Given the description of an element on the screen output the (x, y) to click on. 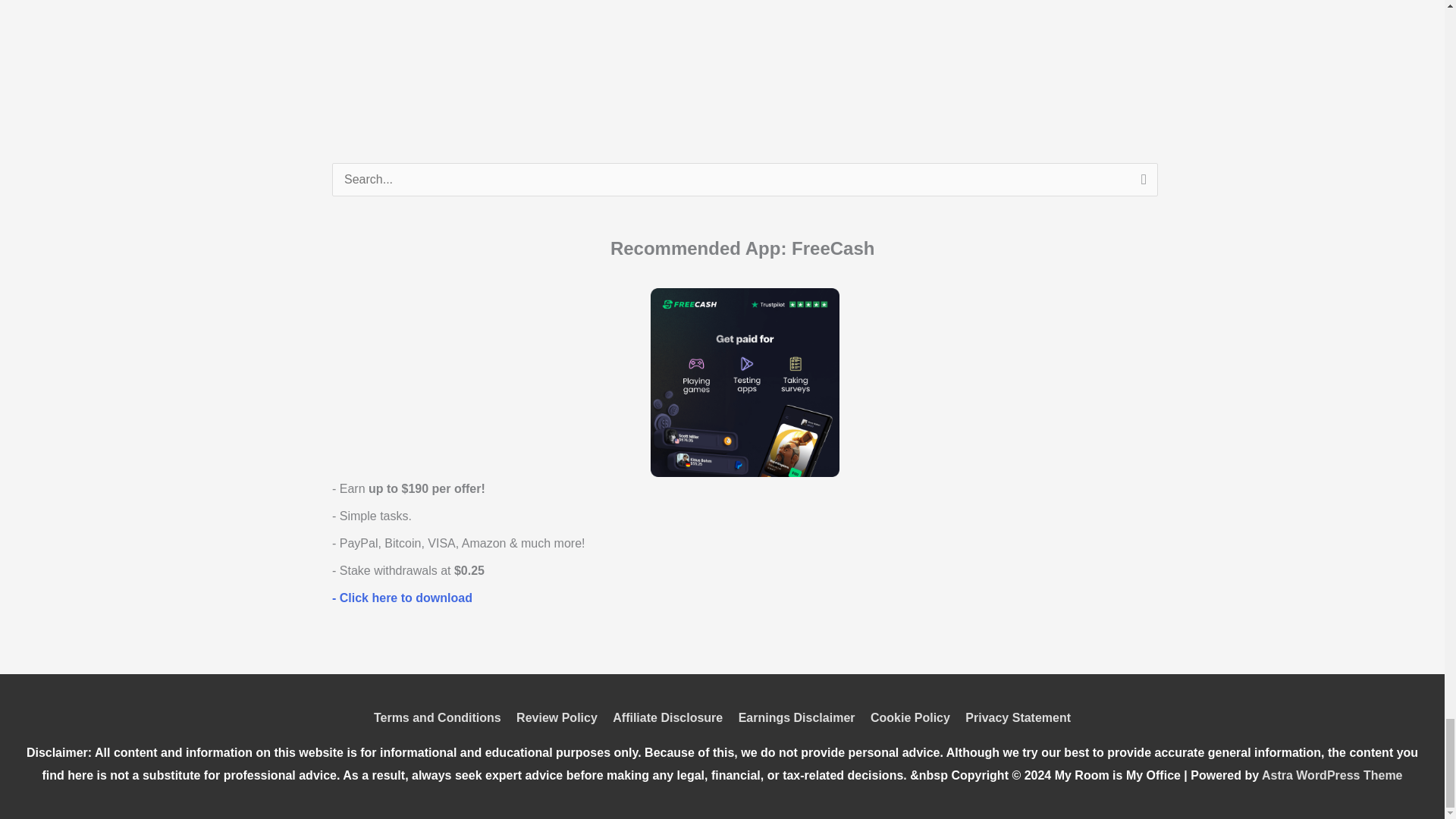
Terms and Conditions (440, 717)
- Click here to download (401, 597)
